Given the description of an element on the screen output the (x, y) to click on. 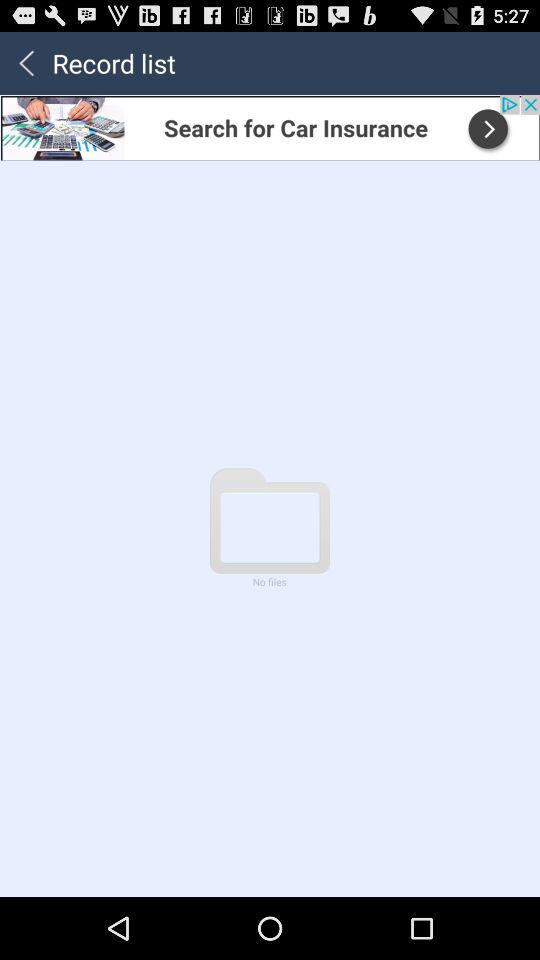
go to previous (26, 62)
